Given the description of an element on the screen output the (x, y) to click on. 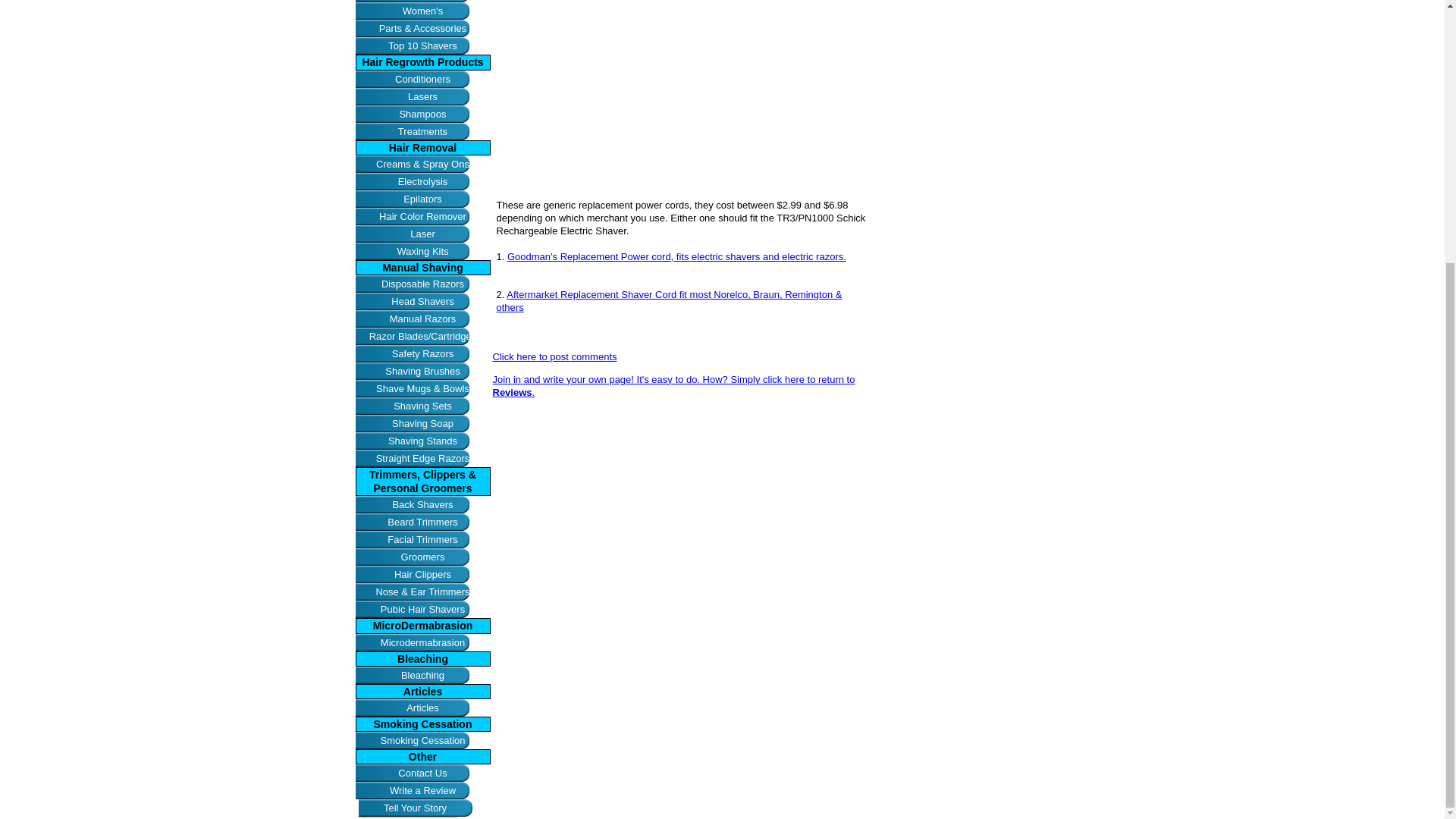
Safety Razors (422, 353)
Straight Edge Razors (422, 457)
Manual Razors (422, 318)
Groomers (422, 556)
Facial Trimmers (422, 538)
Shaving Brushes (422, 371)
Advertisement (681, 86)
Women's (422, 10)
Men's (422, 1)
Hair Color Remover (422, 216)
Hair Clippers (422, 574)
Waxing Kits (422, 251)
Disposable Razors (422, 283)
Beard Trimmers (422, 521)
Click here to post comments (555, 356)
